Given the description of an element on the screen output the (x, y) to click on. 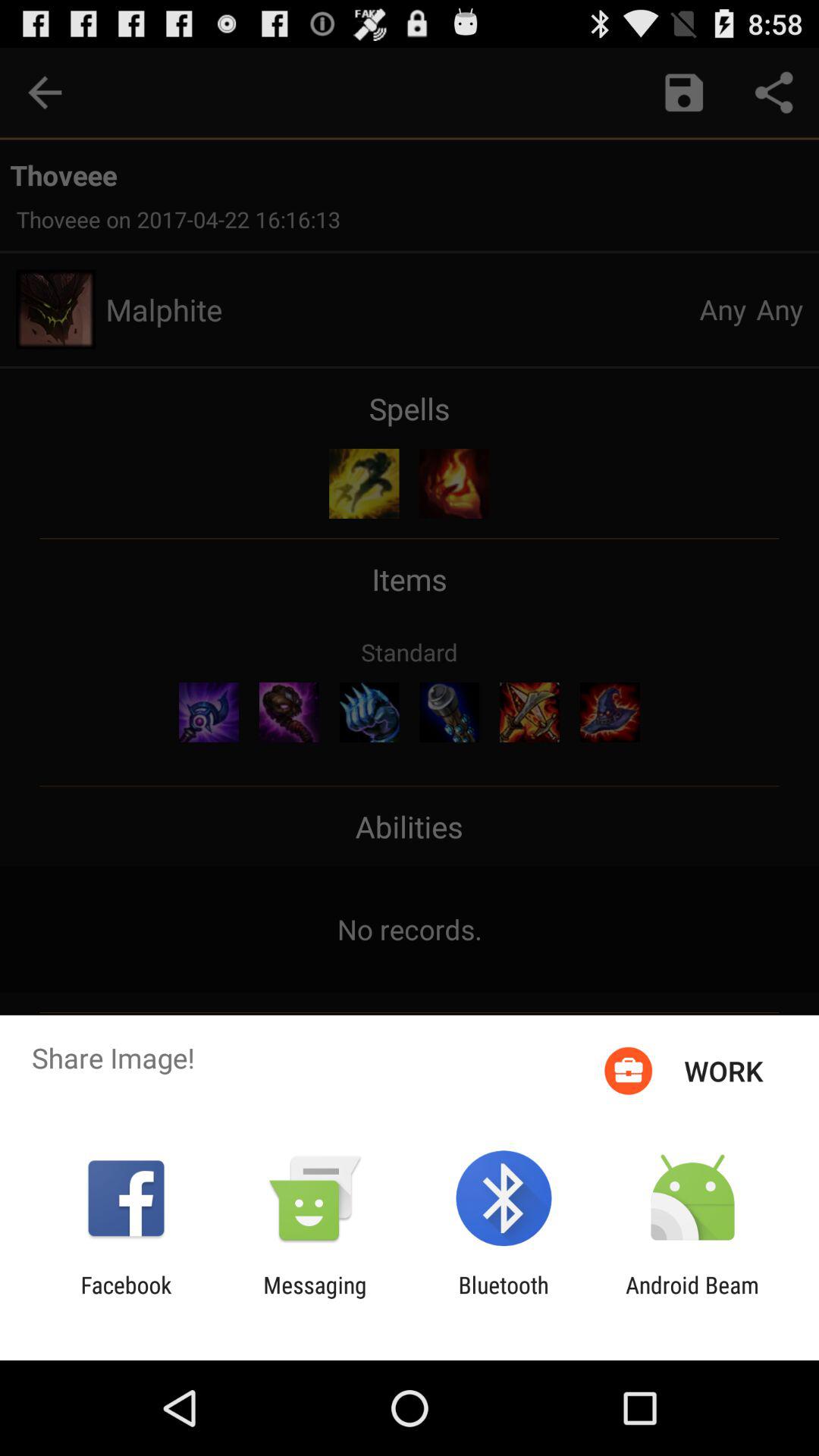
open the item to the left of messaging item (125, 1298)
